Given the description of an element on the screen output the (x, y) to click on. 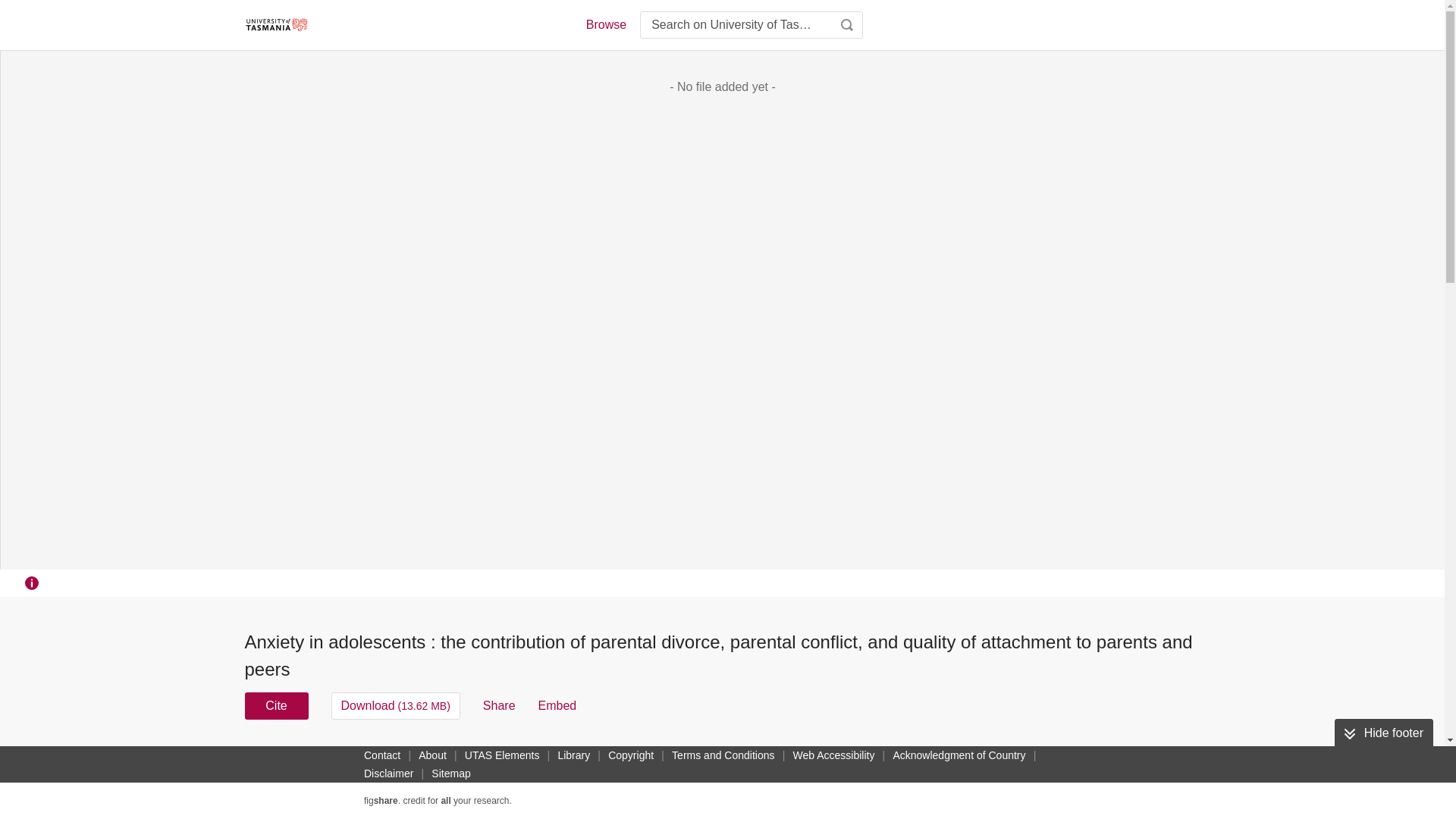
Terms and Conditions (722, 755)
Web Accessibility (834, 755)
Browse (605, 24)
UTAS Elements (502, 755)
Acknowledgment of Country (958, 755)
Embed (557, 705)
Share (499, 705)
Hide footer (1383, 733)
Contact (381, 755)
Library (573, 755)
Sitemap (450, 773)
Disclaimer (388, 773)
Cite (275, 705)
USAGE METRICS (976, 759)
About (432, 755)
